Given the description of an element on the screen output the (x, y) to click on. 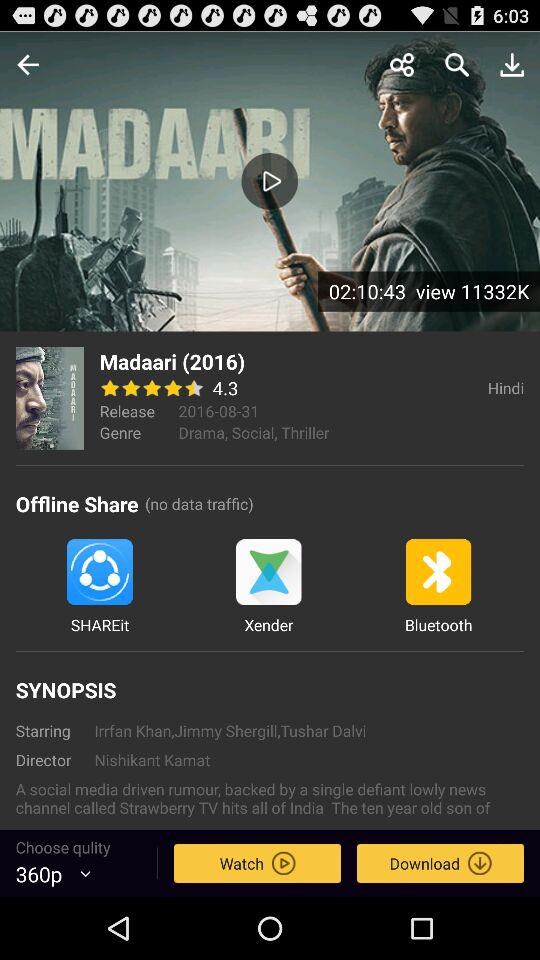
click on button with text watch (256, 863)
click on bluetooth option next to xender option (438, 587)
click on download button right to search symbol (512, 65)
